Given the description of an element on the screen output the (x, y) to click on. 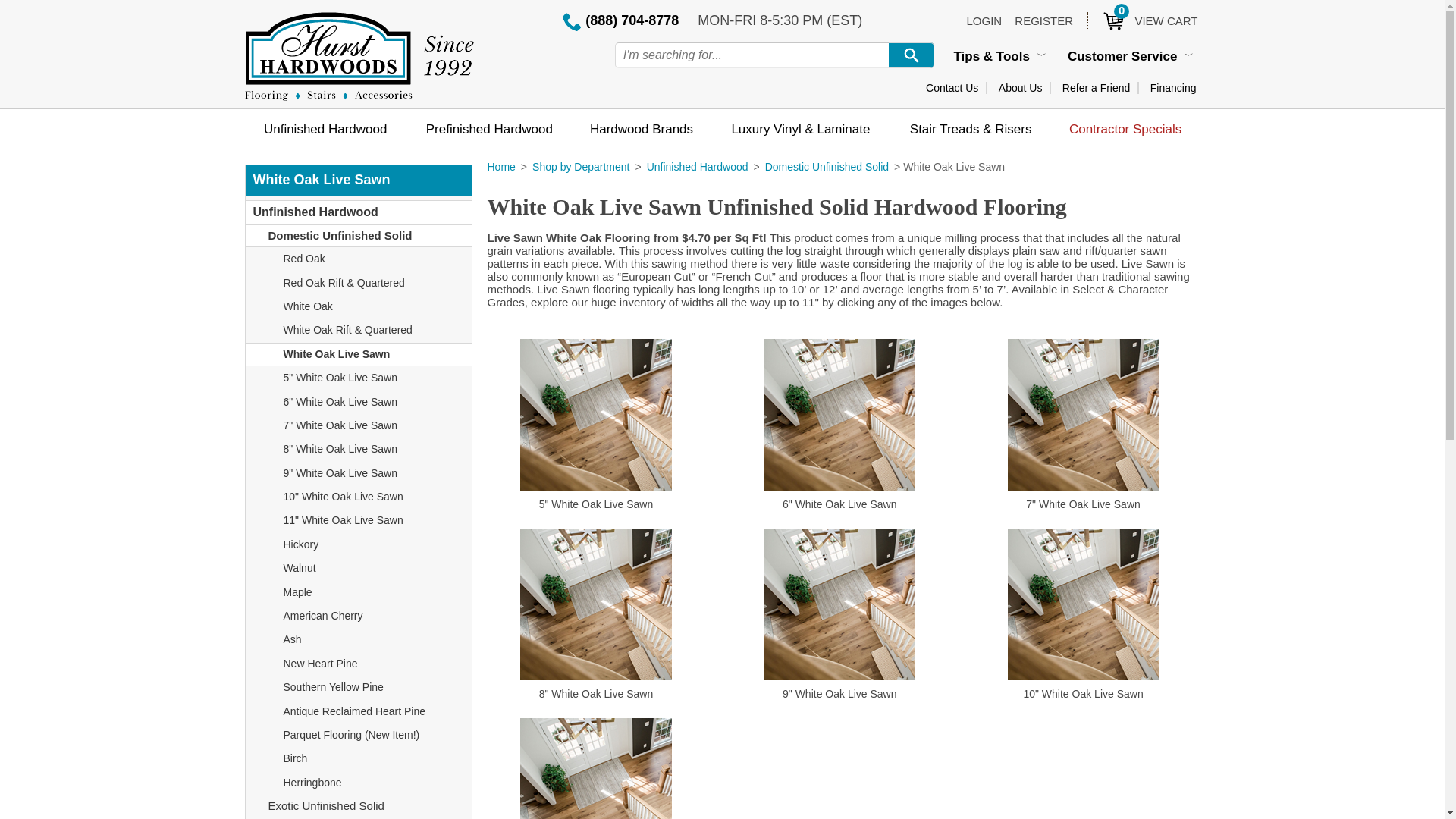
LOGIN (983, 20)
Refer a Friend (1141, 20)
Contact Us (1095, 87)
Financing (952, 87)
REGISTER (1173, 87)
About Us (1043, 20)
Unfinished Hardwood (1020, 87)
